Given the description of an element on the screen output the (x, y) to click on. 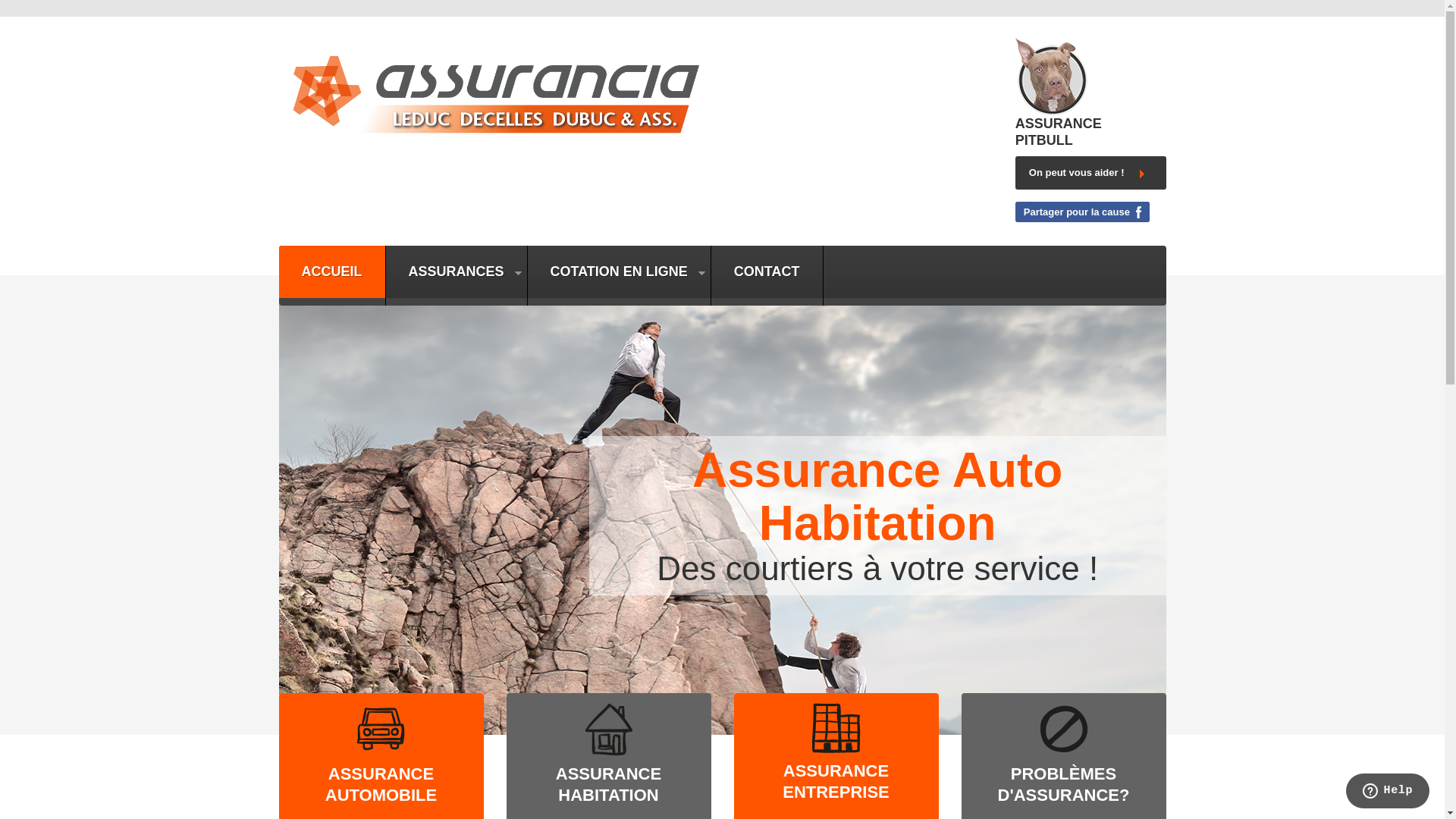
On peut vous aider ! Element type: text (1090, 172)
Opens a widget where you can chat to one of our agents Element type: hover (1387, 792)
CONTACT Element type: text (766, 271)
ASSURANCE
HABITATION Element type: text (608, 784)
ASSURANCE
ENTREPRISE Element type: text (835, 781)
Partager pour la cause Element type: text (1082, 211)
ASSURANCE
AUTOMOBILE Element type: text (380, 784)
ACCUEIL Element type: text (332, 271)
Assurance Pitbull Element type: hover (1051, 75)
